Given the description of an element on the screen output the (x, y) to click on. 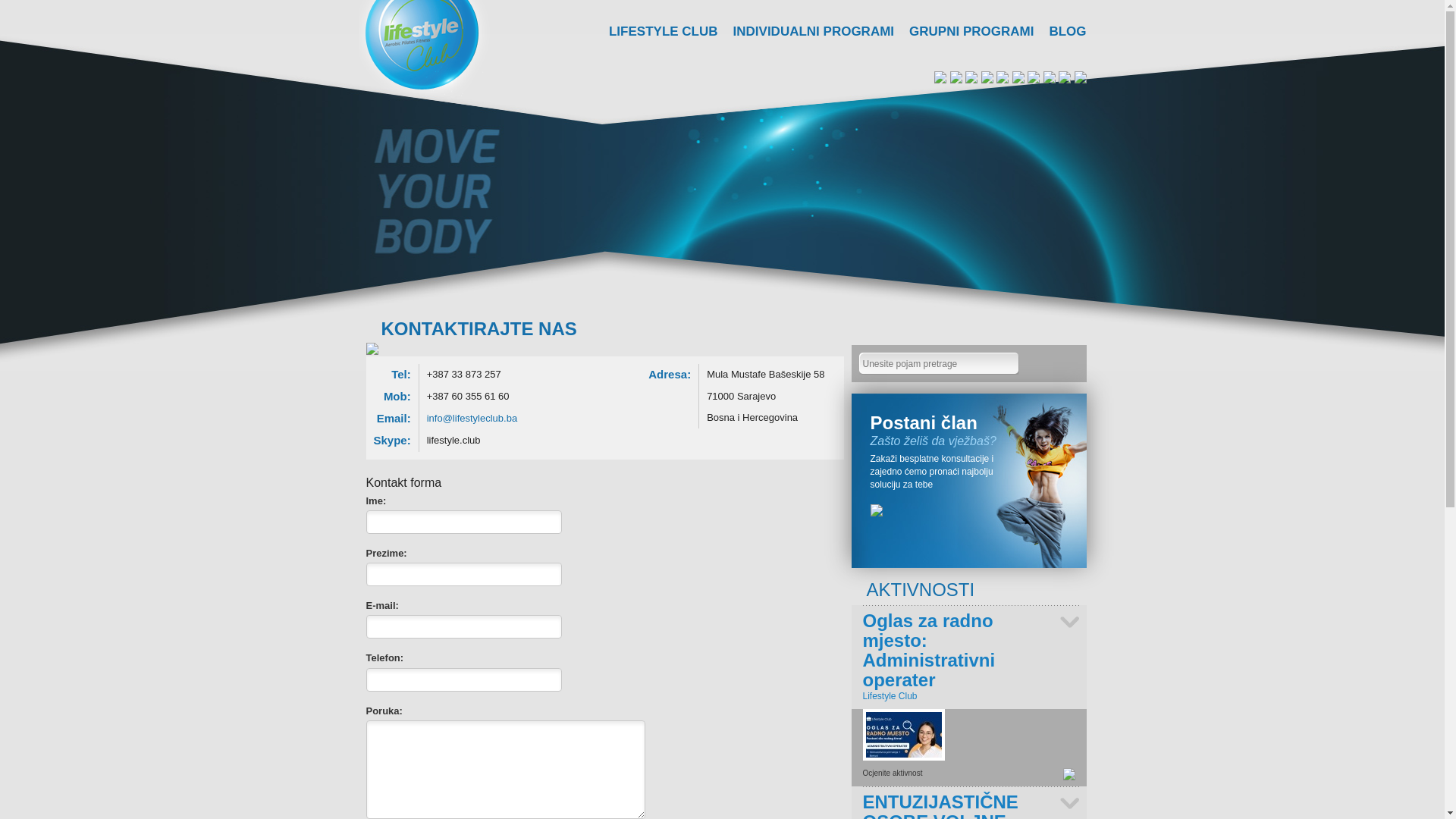
GRUPNI PROGRAMI Element type: text (971, 31)
LIFESTYLE CLUB Element type: text (663, 31)
INDIVIDUALNI PROGRAMI Element type: text (813, 31)
info@lifestyleclub.ba Element type: text (471, 417)
BLOG Element type: text (1066, 31)
